Given the description of an element on the screen output the (x, y) to click on. 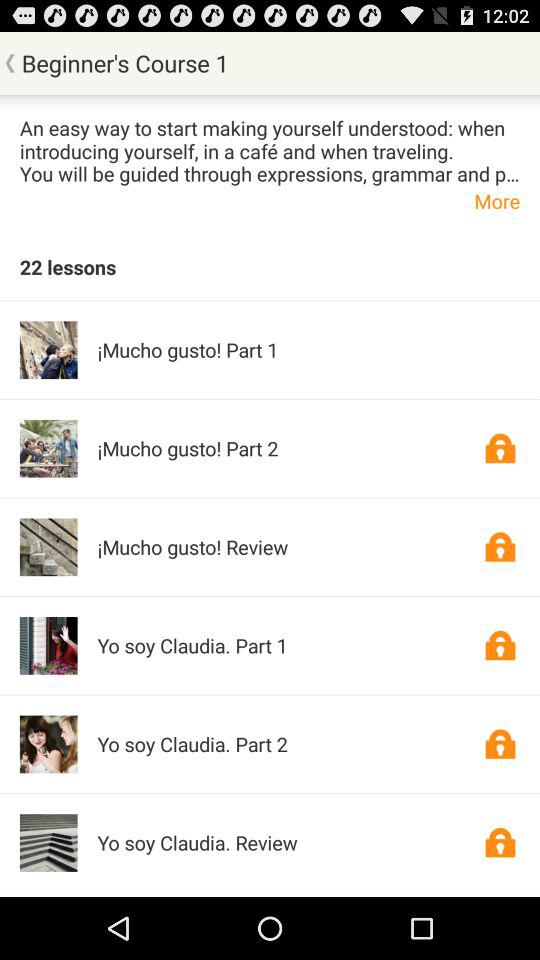
lesson is not available yet (500, 842)
